Given the description of an element on the screen output the (x, y) to click on. 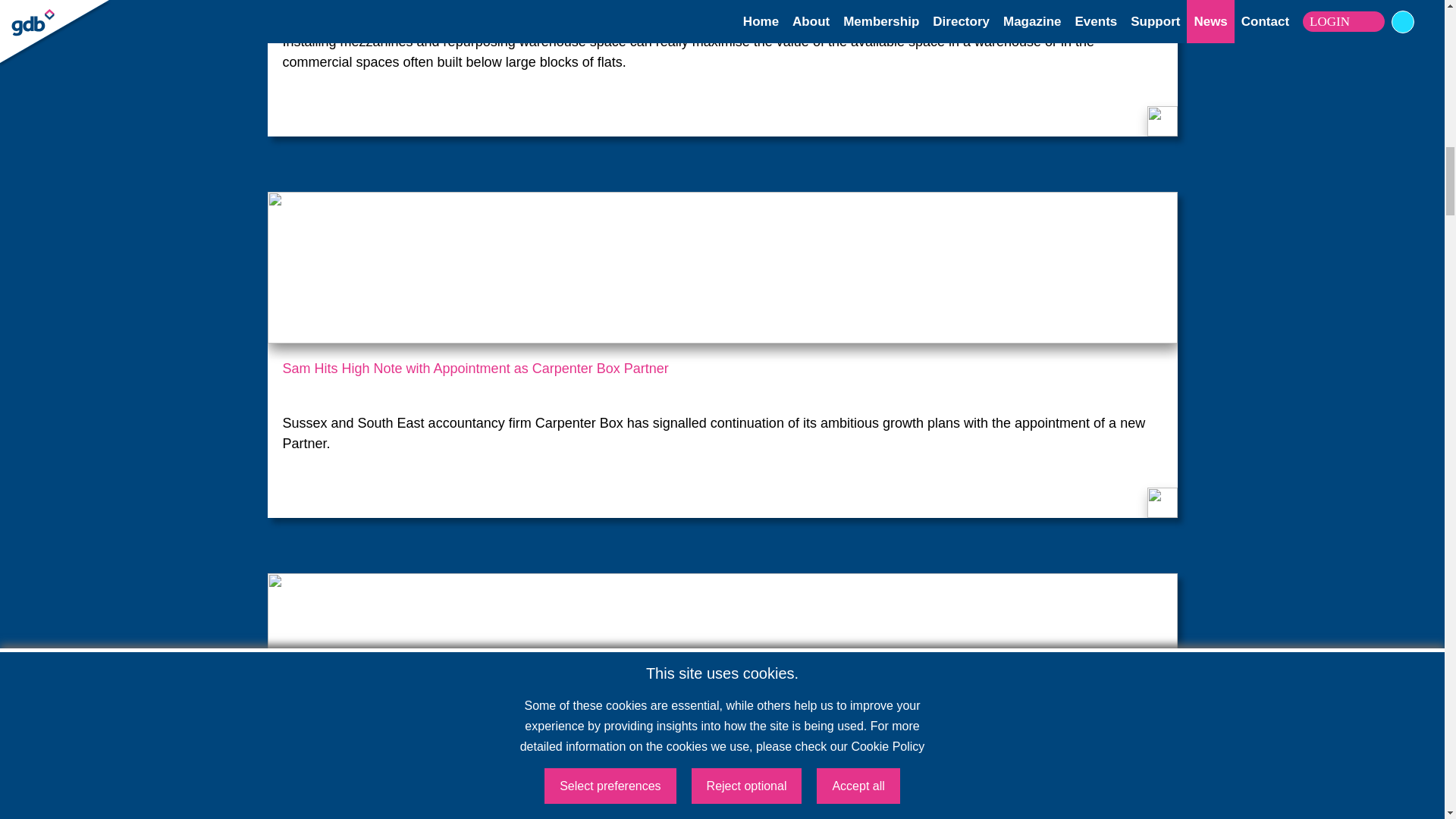
Sam Hits High Note with Appointment as Carpenter Box Partner (721, 378)
Designer Travel receive new accolade (721, 759)
Mezzanines and Repurposing Space (721, 8)
